Given the description of an element on the screen output the (x, y) to click on. 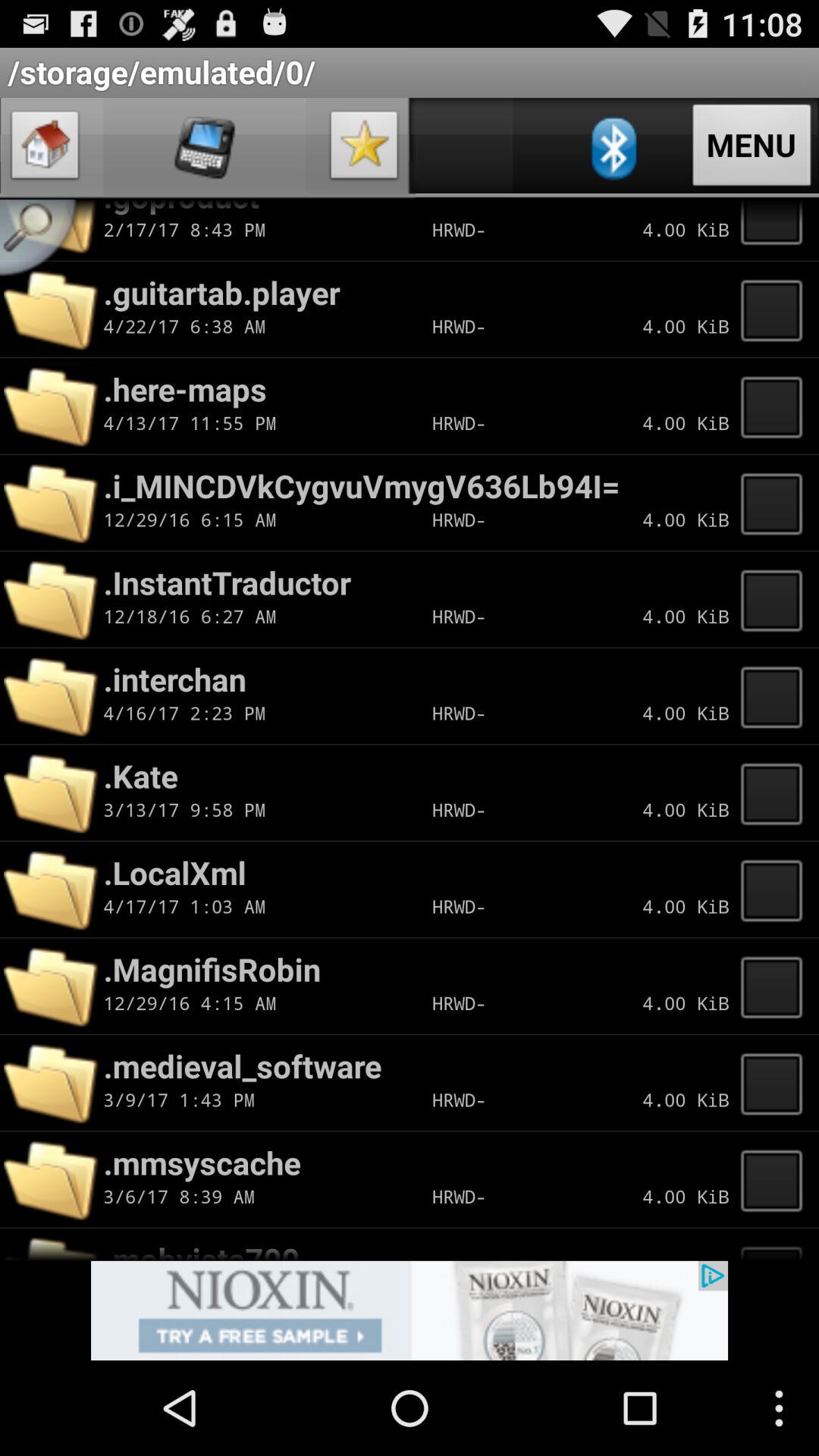
new tape (776, 309)
